Given the description of an element on the screen output the (x, y) to click on. 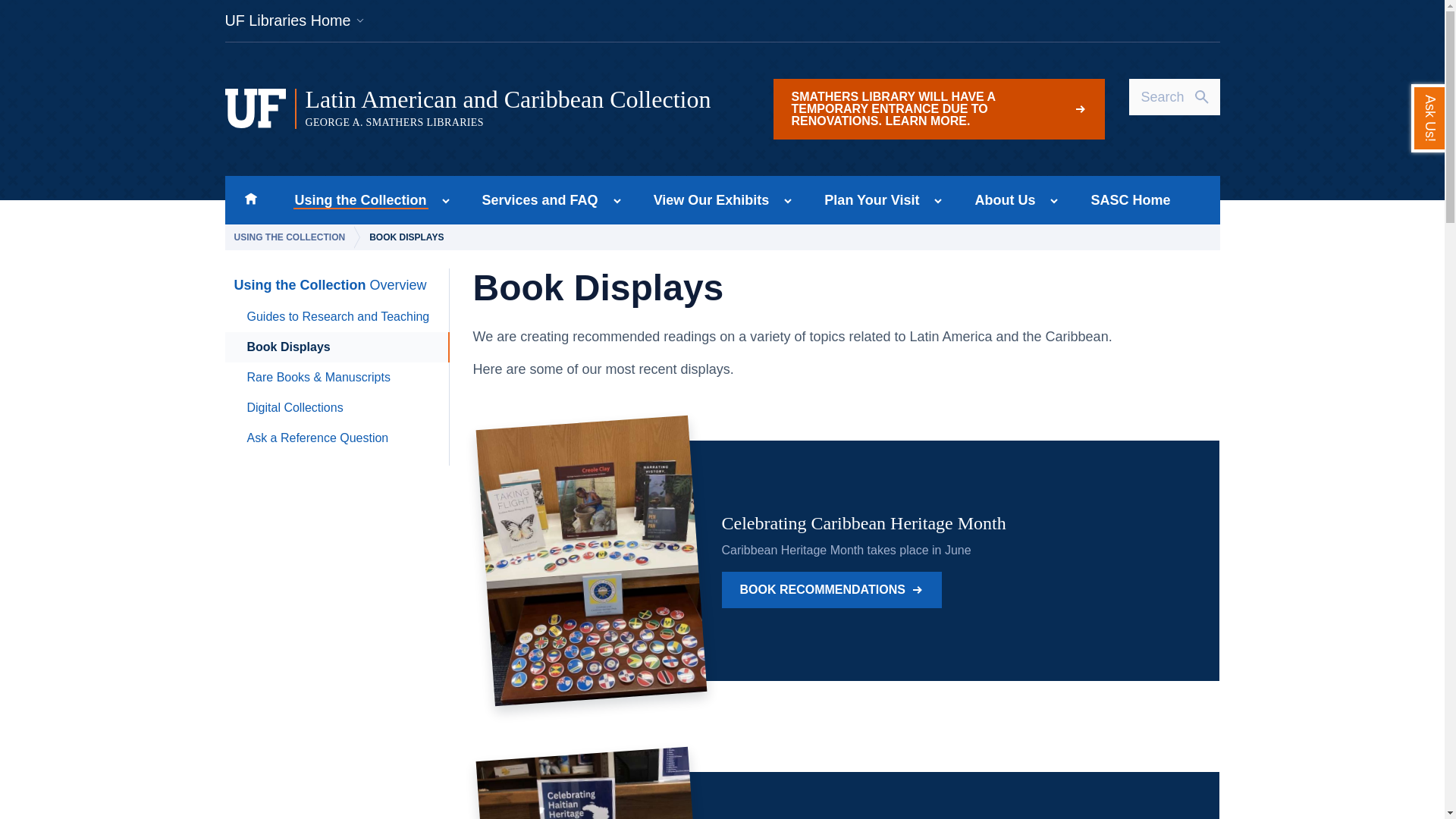
Home (355, 200)
Plan Your Visit (250, 200)
View Our Exhibits (867, 200)
UF Libraries Home (706, 200)
Services and FAQ (294, 20)
